Given the description of an element on the screen output the (x, y) to click on. 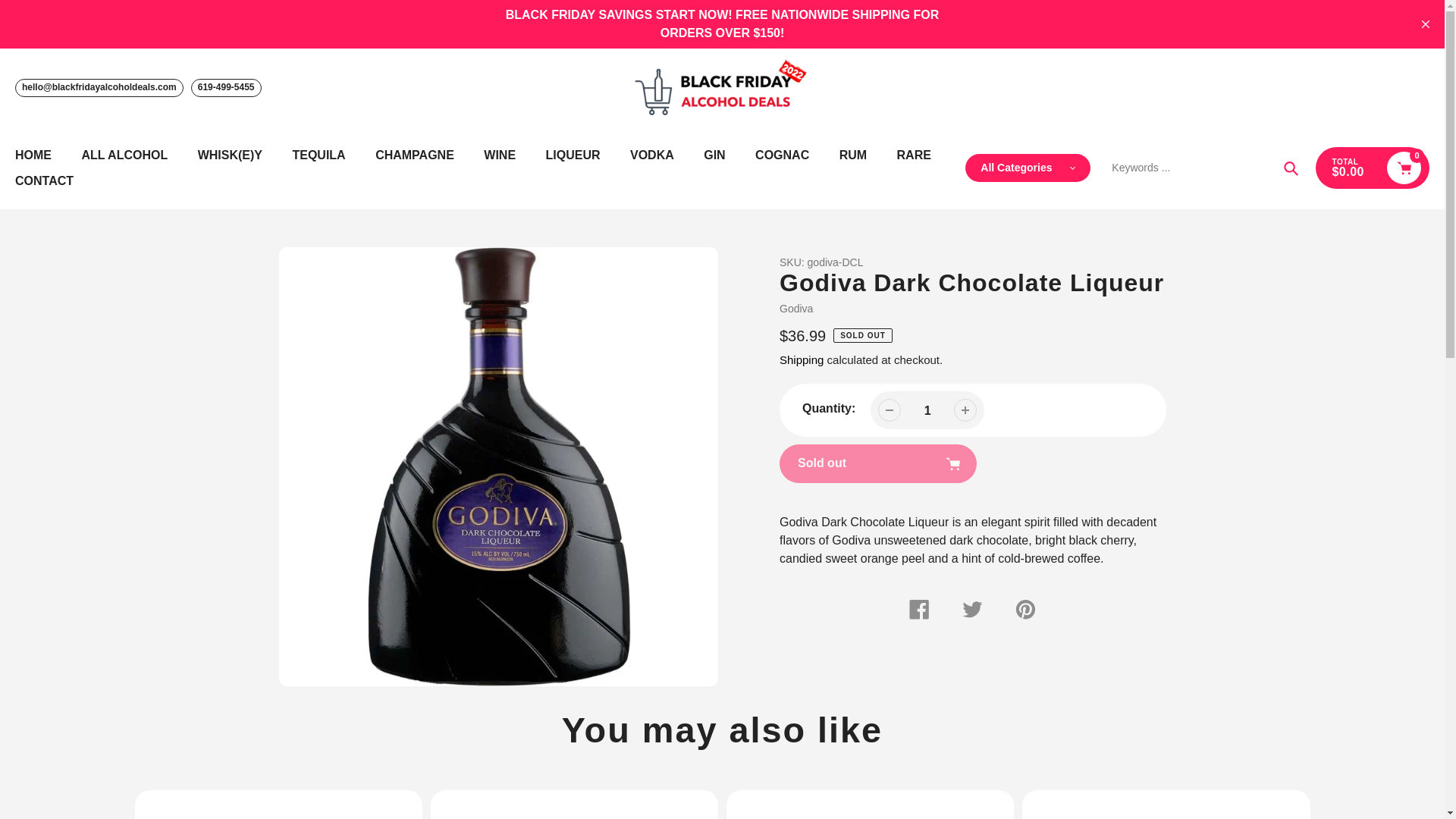
1 (927, 410)
ALL ALCOHOL (124, 155)
VODKA (652, 155)
GIN (714, 155)
619-499-5455 (226, 87)
COGNAC (782, 155)
All Categories (1027, 167)
CONTACT (44, 180)
RARE (913, 155)
WINE (499, 155)
LIQUEUR (572, 155)
CHAMPAGNE (414, 155)
HOME (32, 155)
RUM (853, 155)
TEQUILA (318, 155)
